Given the description of an element on the screen output the (x, y) to click on. 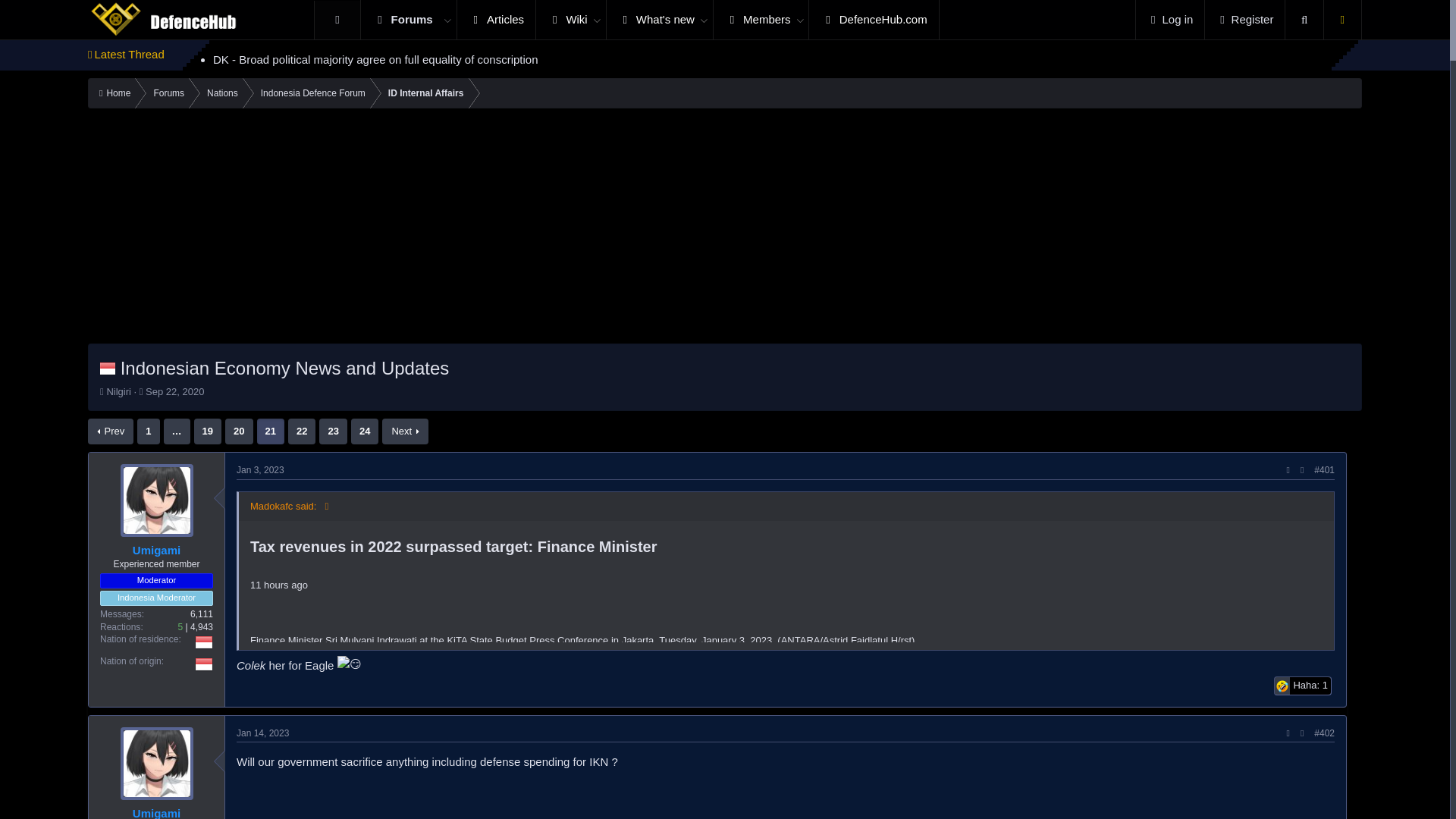
DefenceHub.com (625, 19)
Sep 22, 2020 at 5:31 PM (625, 19)
Register (873, 19)
Smirking face    :smirk: (174, 391)
Indonesia (1244, 19)
Forums (349, 663)
Members (203, 642)
Log in (400, 19)
